Given the description of an element on the screen output the (x, y) to click on. 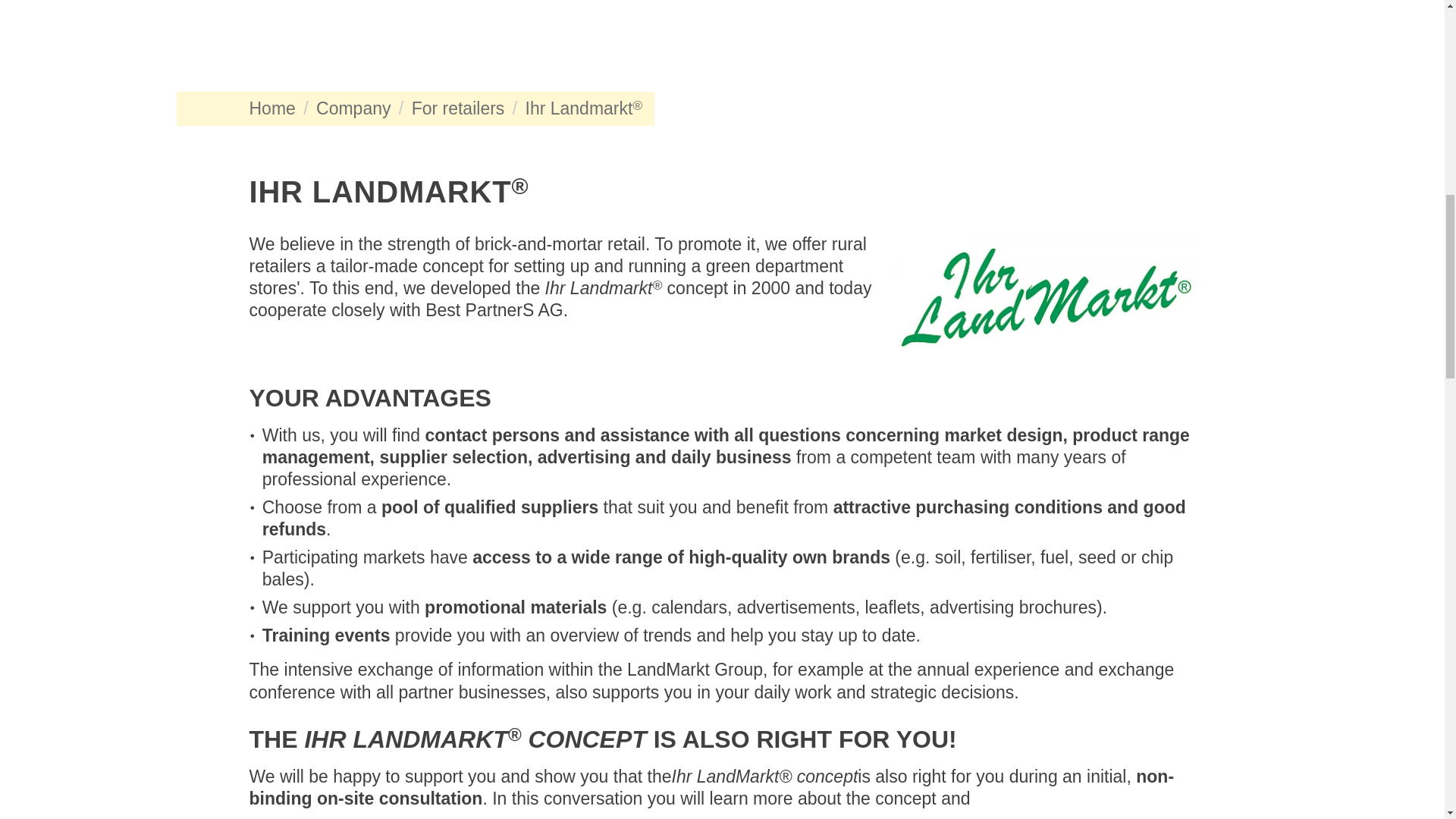
For retailers (458, 107)
Home (271, 107)
Company (352, 107)
